Given the description of an element on the screen output the (x, y) to click on. 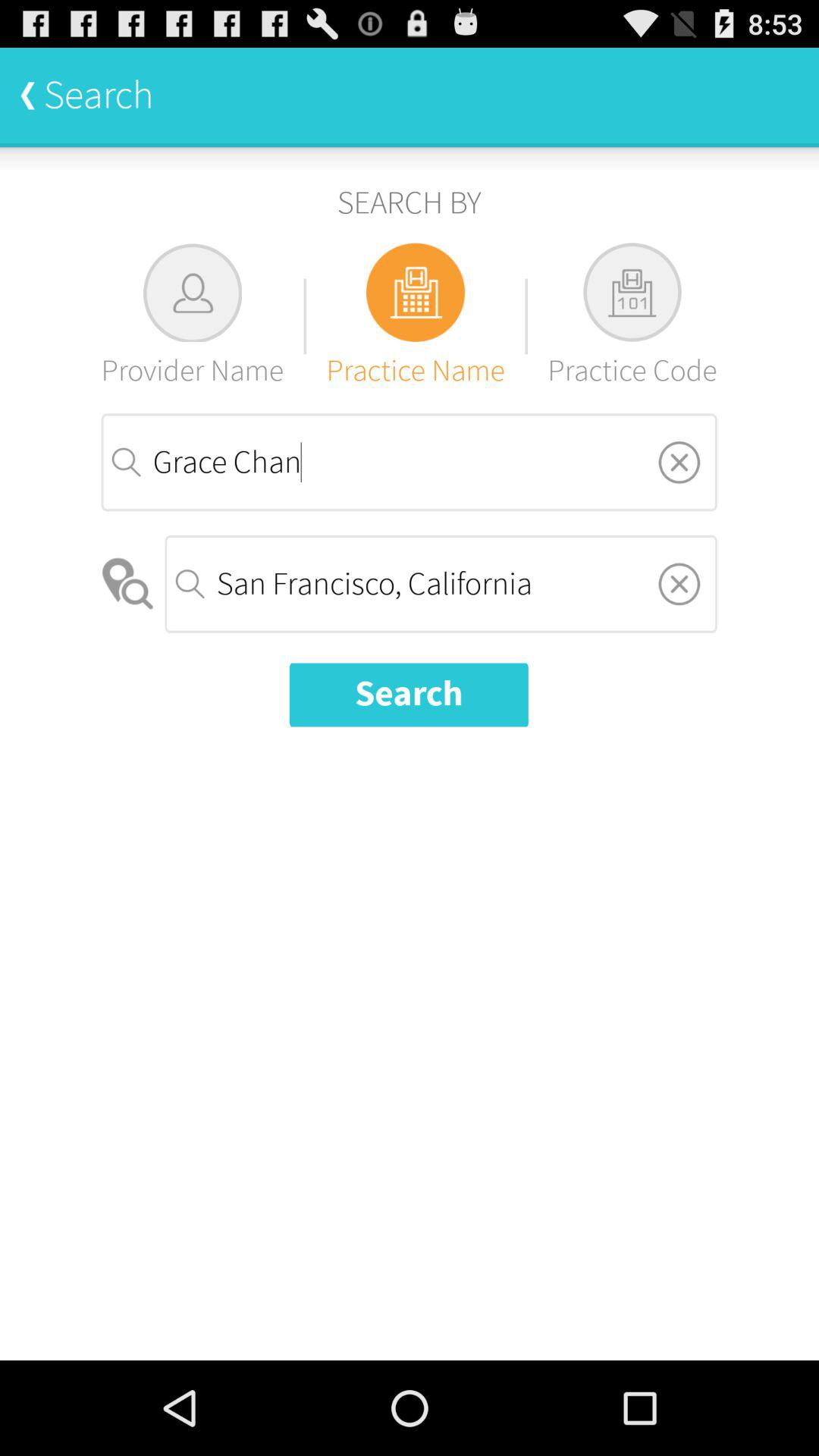
click the item next to the san francisco, california item (128, 583)
